Given the description of an element on the screen output the (x, y) to click on. 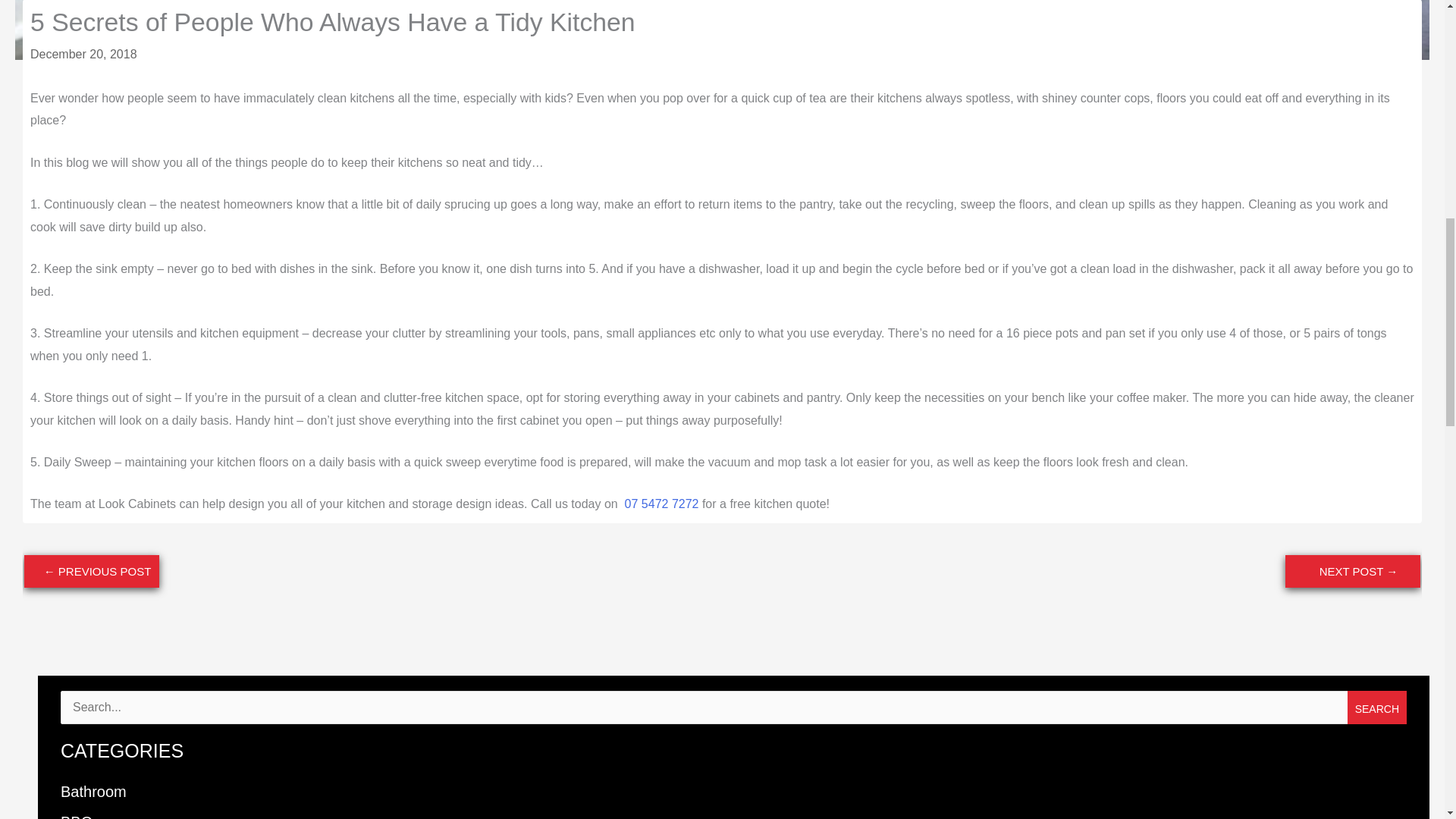
07 5472 7272 (661, 503)
Interior Design Trends for 2019 (91, 571)
